Given the description of an element on the screen output the (x, y) to click on. 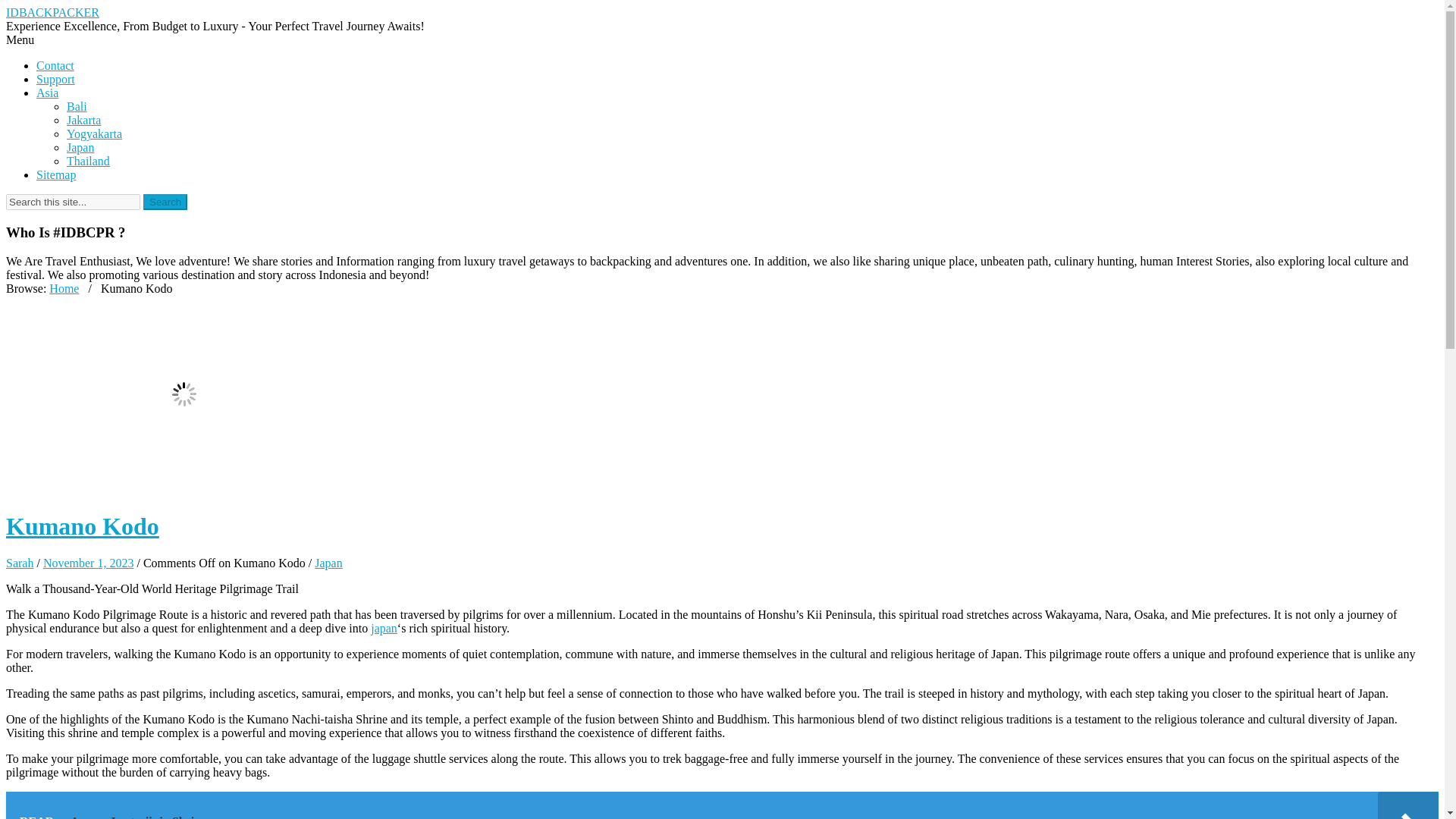
Support (55, 78)
Home (63, 287)
Kumano Kodo (81, 525)
Yogyakarta (94, 133)
Japan (80, 146)
Search (164, 201)
Sarah (19, 562)
Search this site... (72, 201)
Contact (55, 65)
Jakarta (83, 119)
Search (164, 201)
November 1, 2023 (88, 562)
Posts by Sarah (19, 562)
IDBACKPACKER (52, 11)
Sitemap (55, 174)
